Given the description of an element on the screen output the (x, y) to click on. 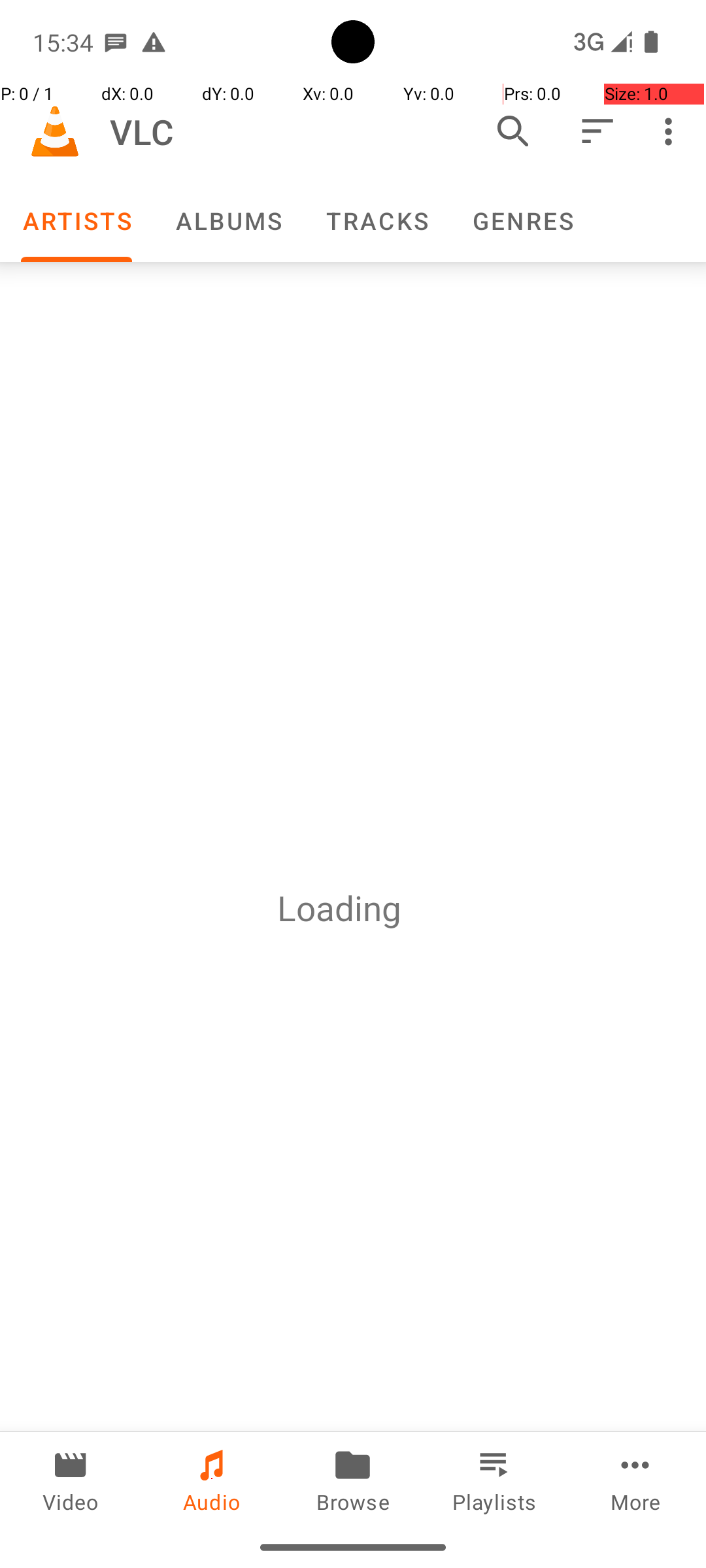
Genres Element type: android.widget.LinearLayout (521, 220)
ARTISTS Element type: android.widget.TextView (76, 220)
ALBUMS Element type: android.widget.TextView (227, 220)
TRACKS Element type: android.widget.TextView (376, 220)
GENRES Element type: android.widget.TextView (521, 220)
